Given the description of an element on the screen output the (x, y) to click on. 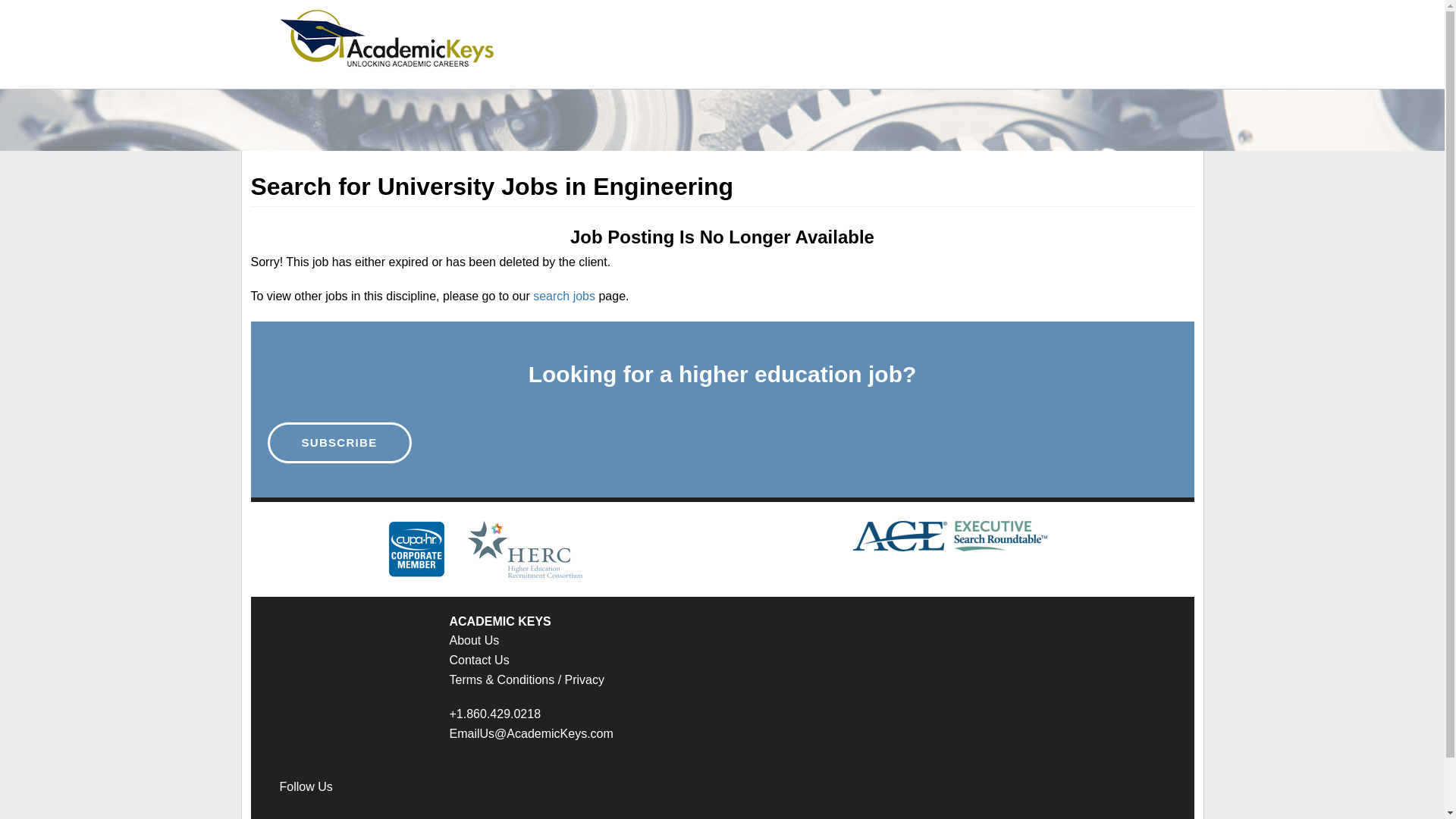
About Us (473, 640)
SUBSCRIBE (338, 442)
Contact Us (478, 659)
About Us (473, 640)
Contact Us (478, 659)
search jobs (563, 295)
